Given the description of an element on the screen output the (x, y) to click on. 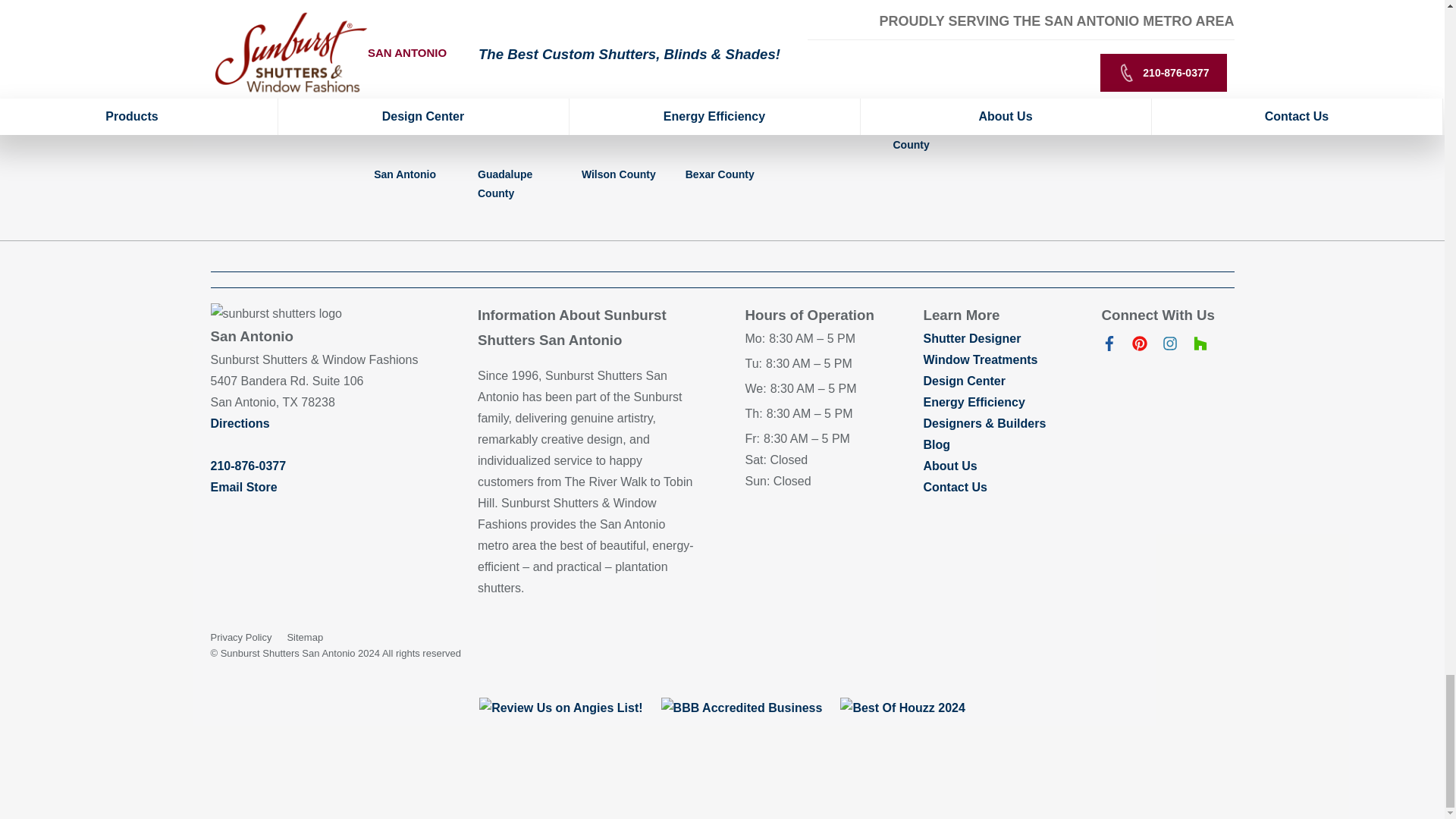
Follow us on Instagram (1168, 346)
BBB Accredited Business (741, 708)
Follow us on Pinterest (1139, 346)
Review Us on Angies List! (560, 708)
Like us on Facebook (1108, 346)
Best Of Houzz 2024 (901, 708)
Save us on Houzz (1199, 346)
